Given the description of an element on the screen output the (x, y) to click on. 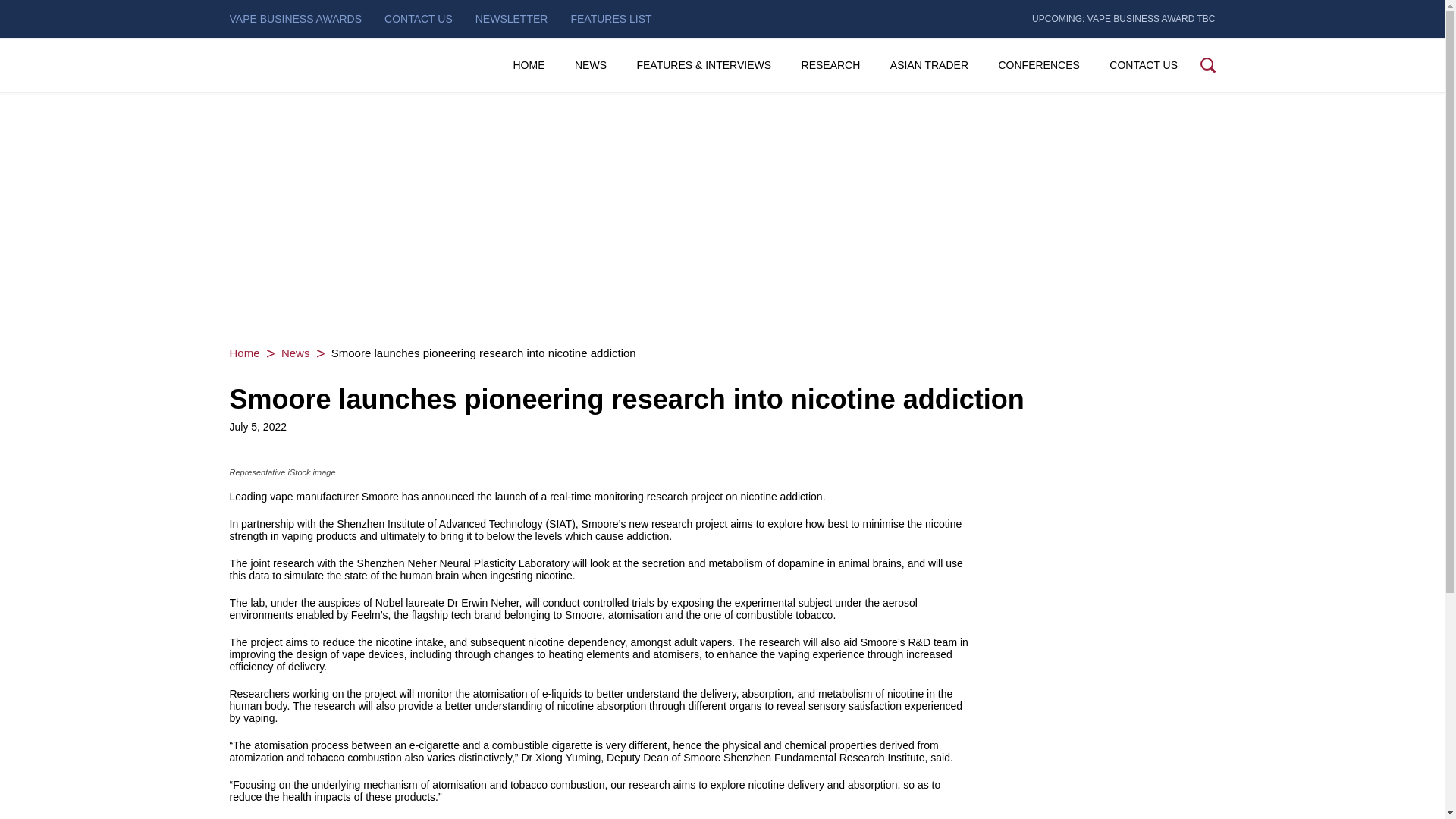
NEWSLETTER (512, 18)
VAPE BUSINESS AWARDS (294, 18)
HOME (528, 64)
CONFERENCES (1038, 64)
NEWS (590, 64)
RESEARCH (830, 64)
FEATURES LIST (610, 18)
ASIAN TRADER (928, 64)
CONTACT US (1143, 64)
